Given the description of an element on the screen output the (x, y) to click on. 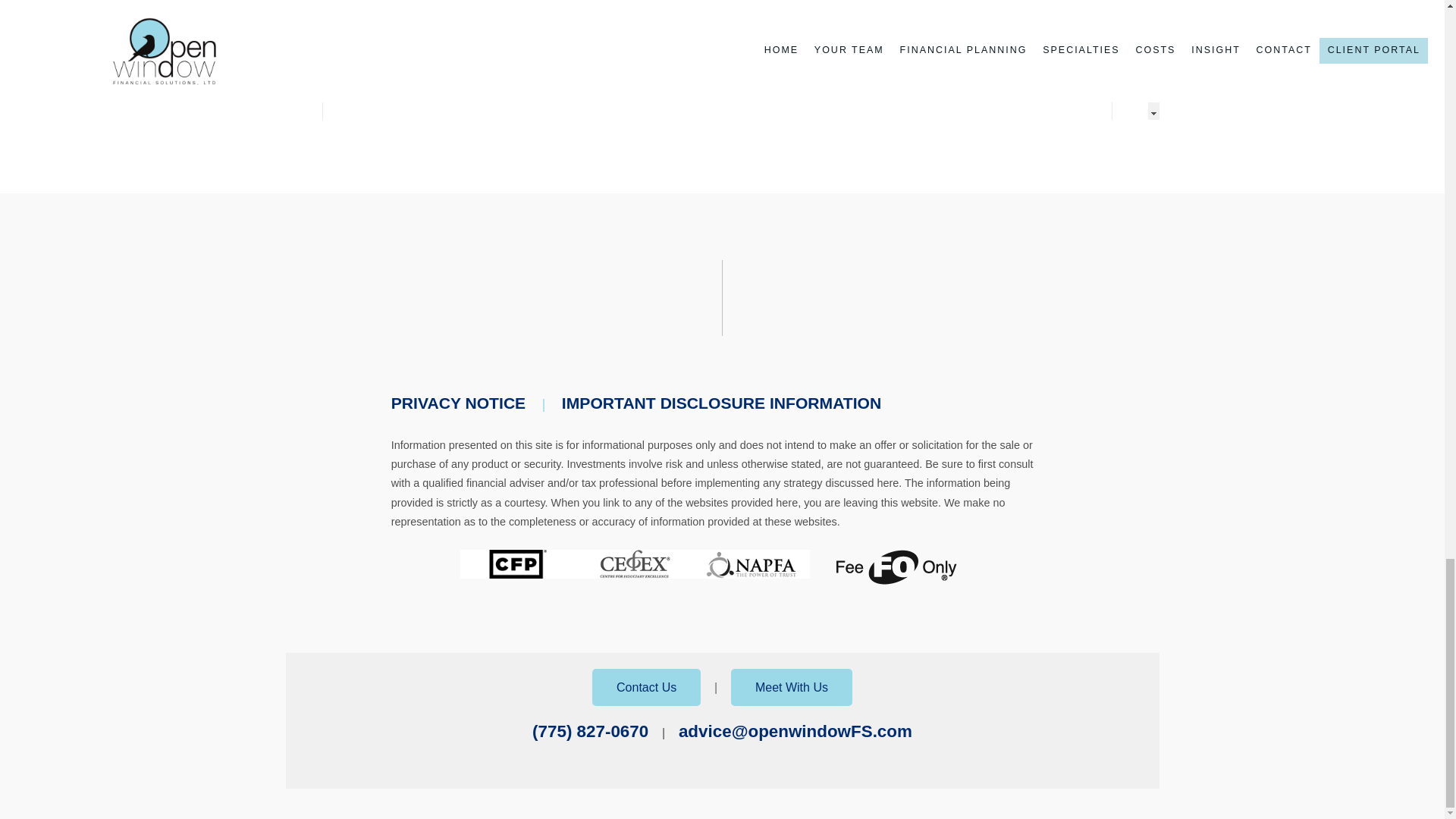
Contact Us (646, 687)
IMPORTANT DISCLOSURE INFORMATION (721, 402)
PRIVACY NOTICE (458, 402)
